Given the description of an element on the screen output the (x, y) to click on. 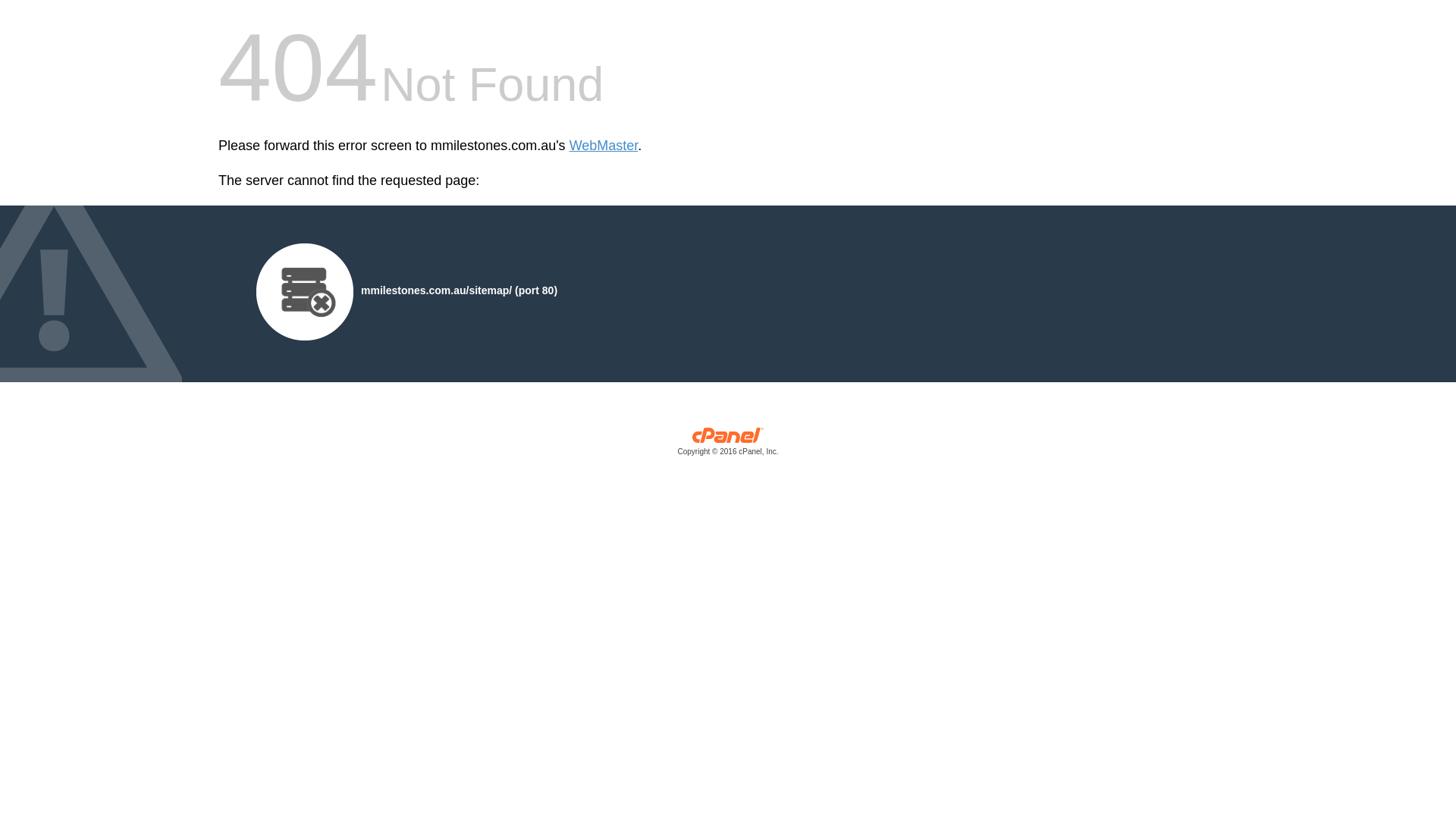
WebMaster Element type: text (603, 145)
